Given the description of an element on the screen output the (x, y) to click on. 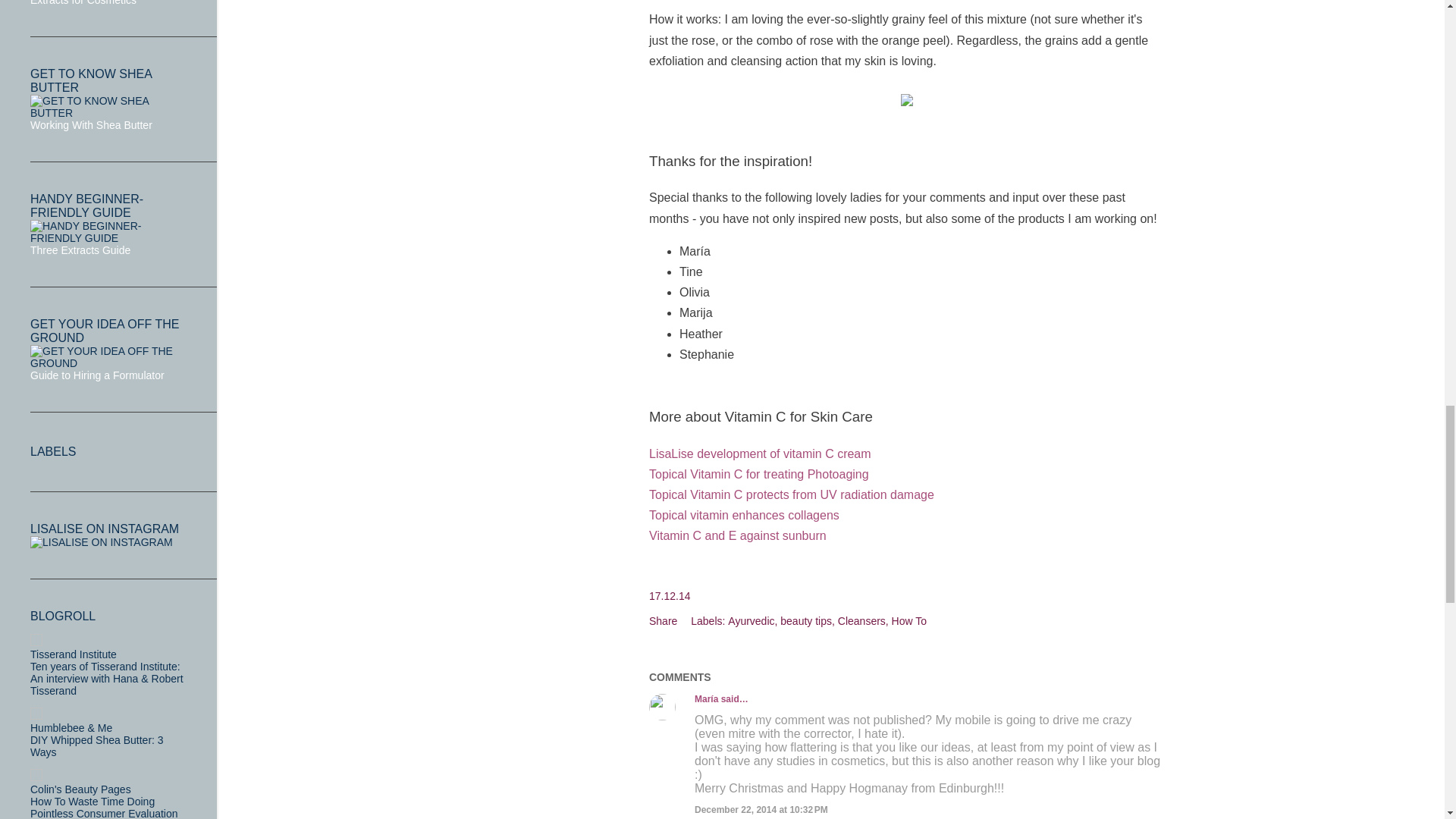
permanent link (669, 595)
Topical Vitamin C protects from UV radiation damage (791, 494)
Cleansers (863, 621)
Topical vitamin enhances collagens (744, 514)
Topical Vitamin C for treating Photoaging (759, 473)
Share (663, 621)
Ayurvedic (752, 621)
How To (908, 621)
17.12.14 (669, 595)
LisaLise development of vitamin C cream  (762, 453)
Vitamin C and E against sunburn (738, 535)
beauty tips (807, 621)
comment permalink (761, 809)
